Given the description of an element on the screen output the (x, y) to click on. 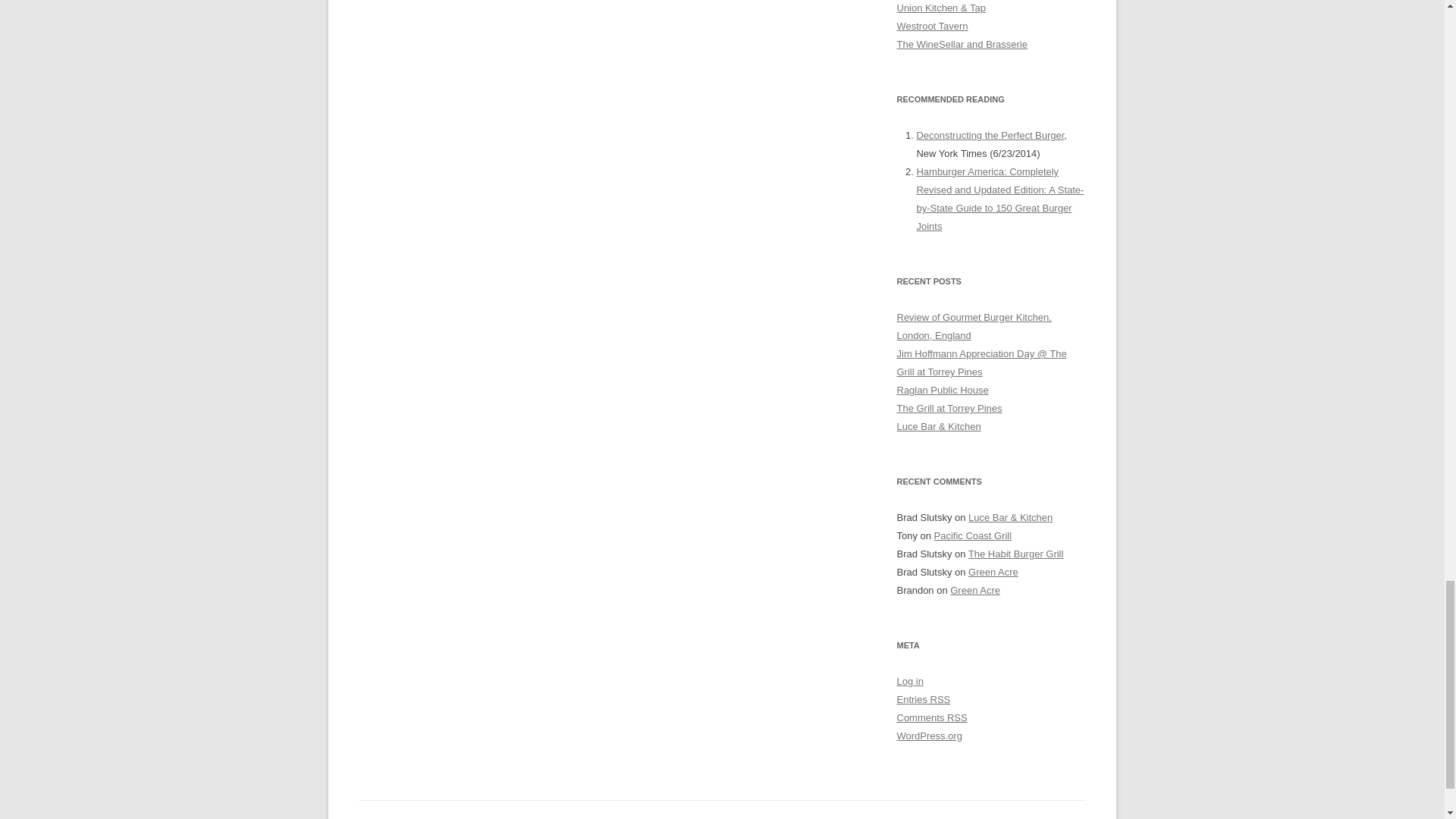
Really Simple Syndication (940, 699)
Really Simple Syndication (957, 717)
